Given the description of an element on the screen output the (x, y) to click on. 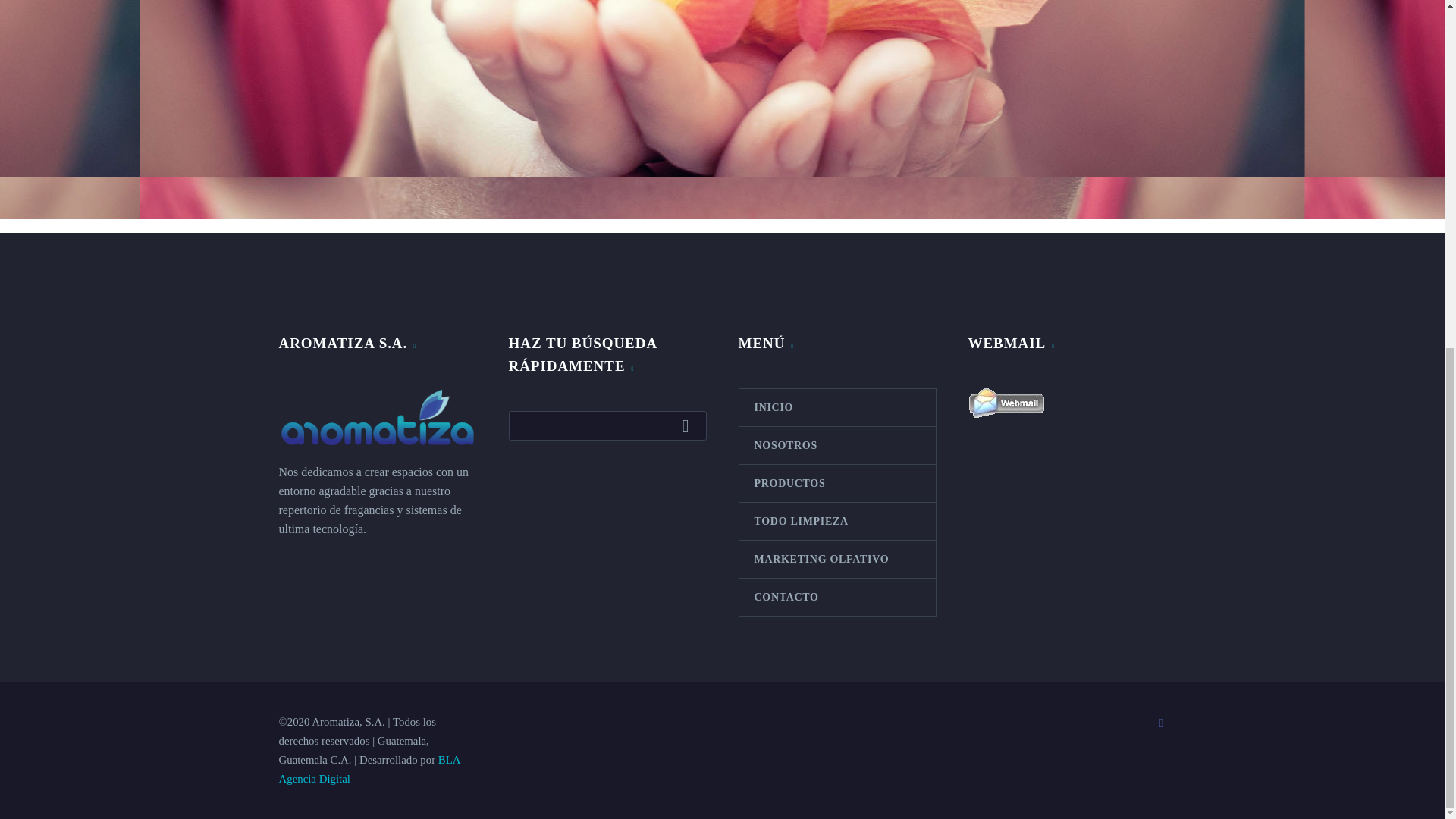
CONTACTO (836, 596)
BUSCAR (689, 425)
NOSOTROS (836, 445)
BLA Agencia Digital (369, 768)
MARKETING OLFATIVO (836, 559)
INICIO (836, 407)
TODO LIMPIEZA (836, 520)
PRODUCTOS (836, 483)
Facebook (1161, 723)
